Given the description of an element on the screen output the (x, y) to click on. 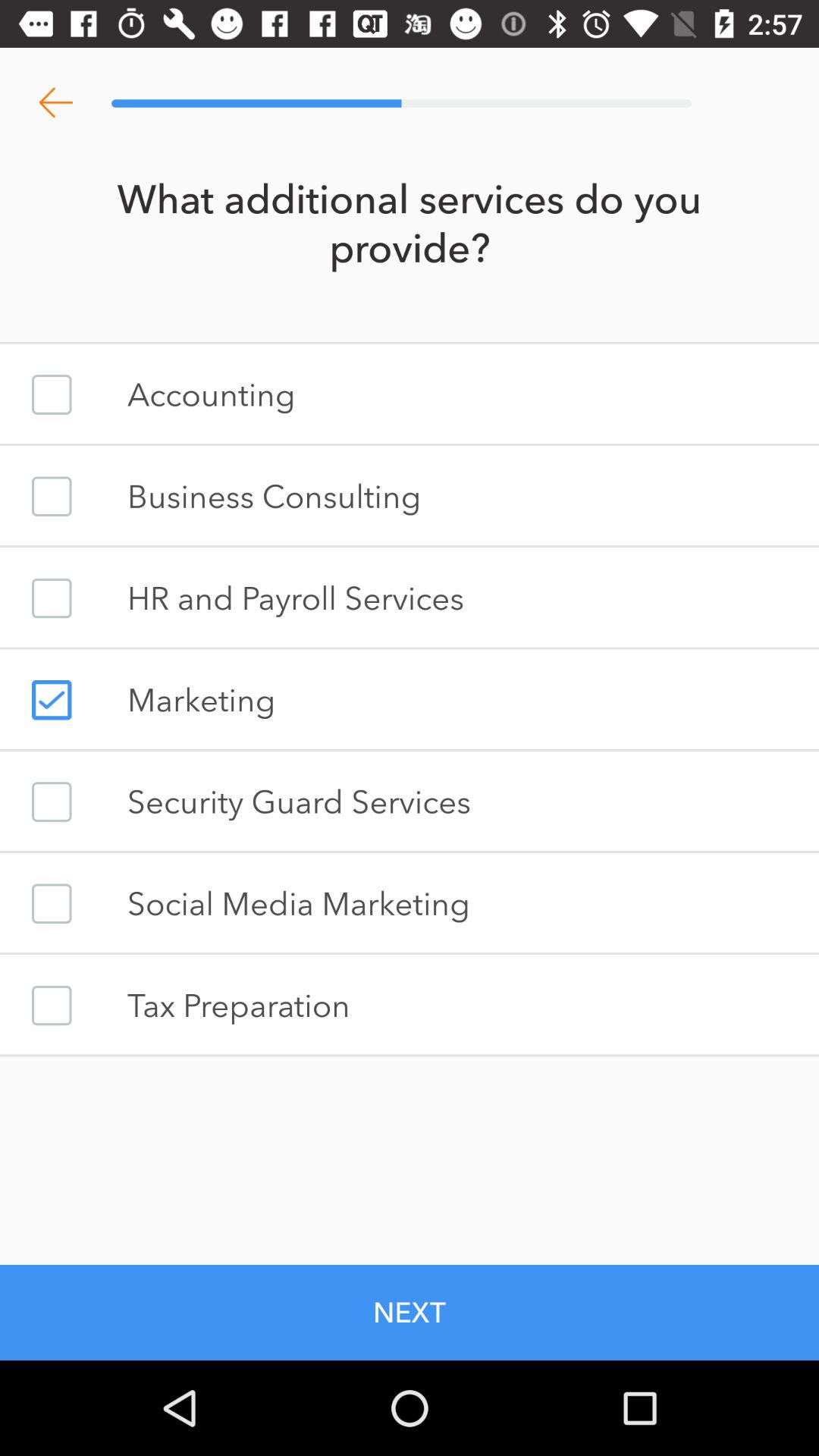
check box for social media marketing (51, 903)
